Given the description of an element on the screen output the (x, y) to click on. 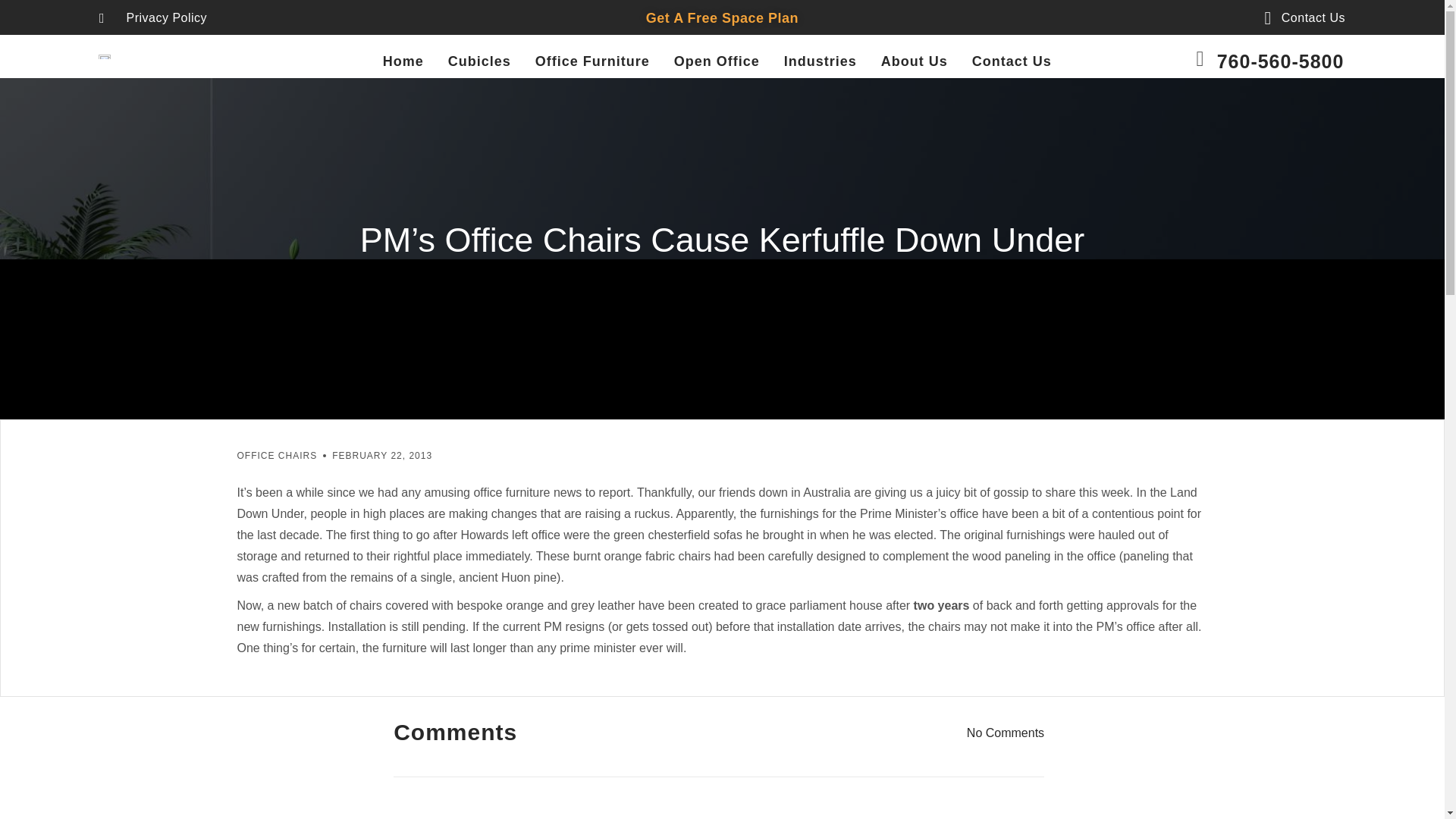
Open Office (717, 61)
About Us (913, 61)
Industries (820, 61)
Cubicles (479, 61)
Contact Us (1297, 18)
Home (402, 61)
Office Furniture (592, 61)
Privacy Policy (152, 18)
